Given the description of an element on the screen output the (x, y) to click on. 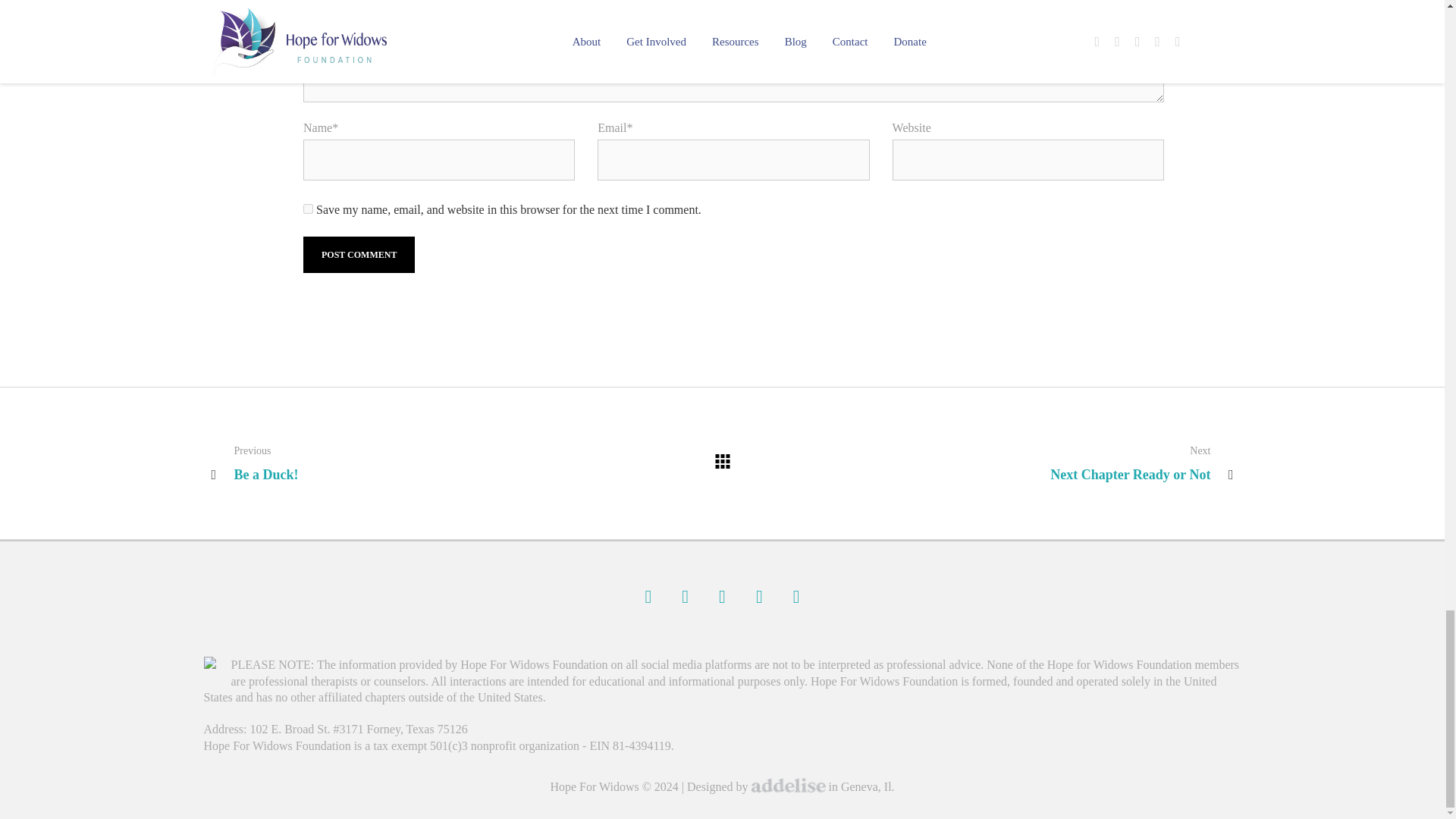
yes (307, 208)
Post Comment (358, 254)
